Given the description of an element on the screen output the (x, y) to click on. 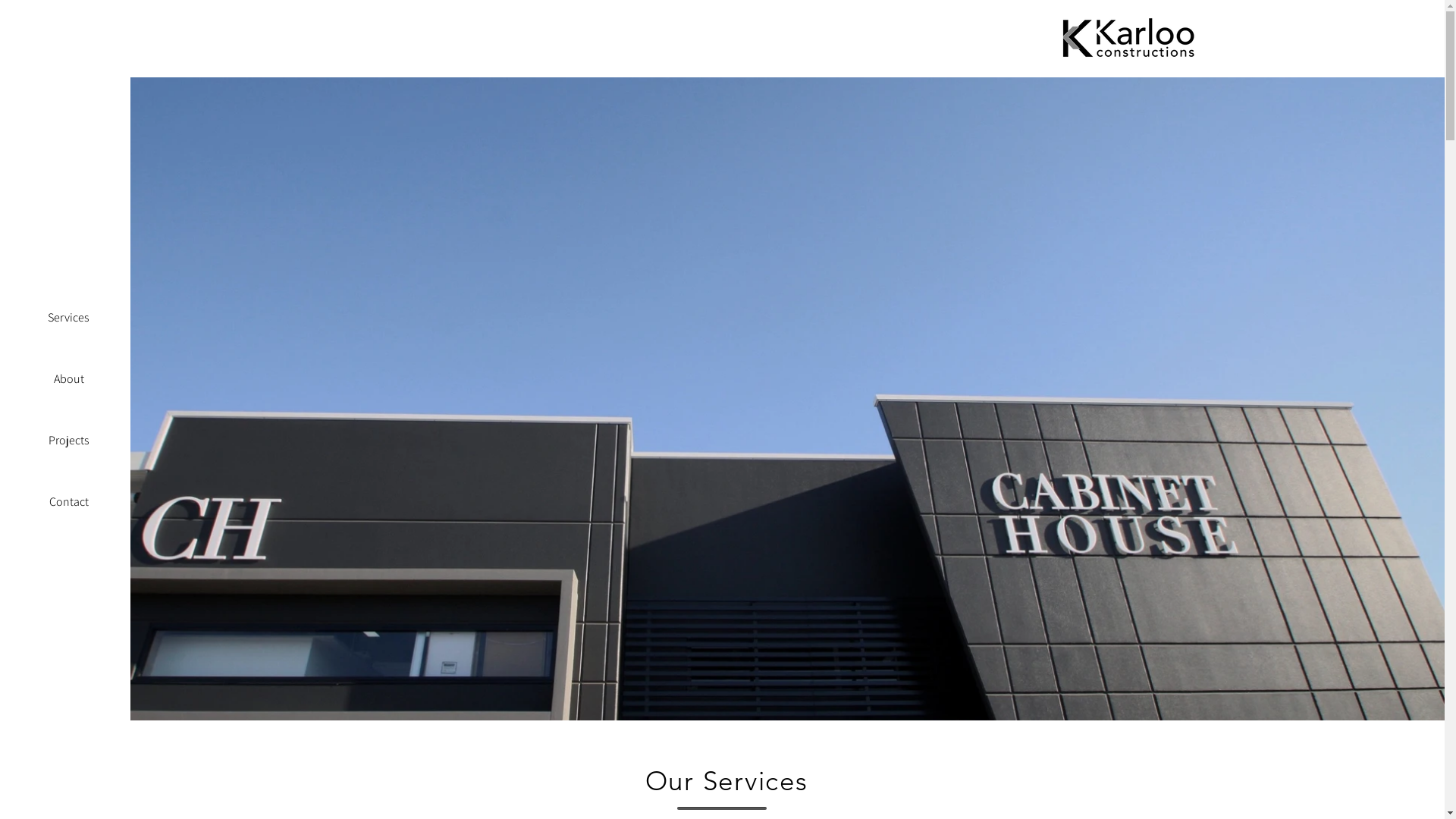
Services Element type: text (68, 317)
Projects Element type: text (68, 439)
Contact Element type: text (68, 501)
About Element type: text (68, 378)
